Given the description of an element on the screen output the (x, y) to click on. 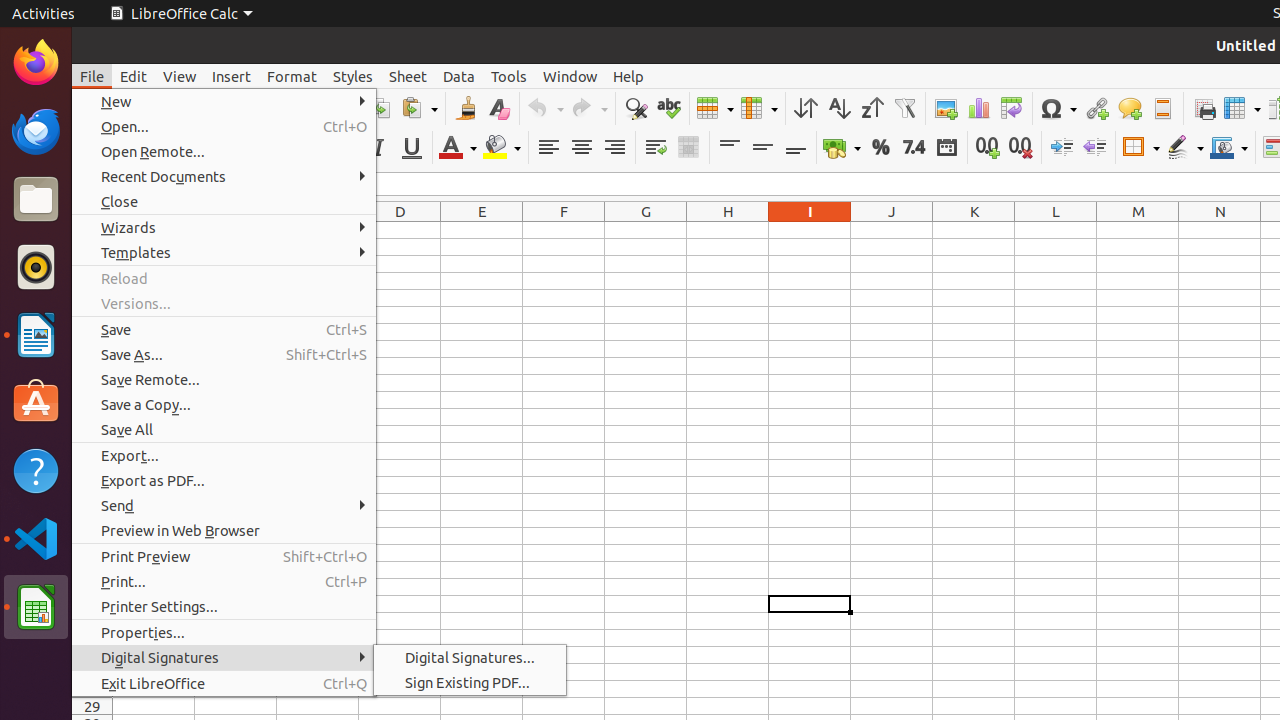
Print... Element type: menu-item (224, 581)
Date Element type: push-button (946, 147)
Underline Element type: push-button (411, 147)
F1 Element type: table-cell (564, 230)
